Given the description of an element on the screen output the (x, y) to click on. 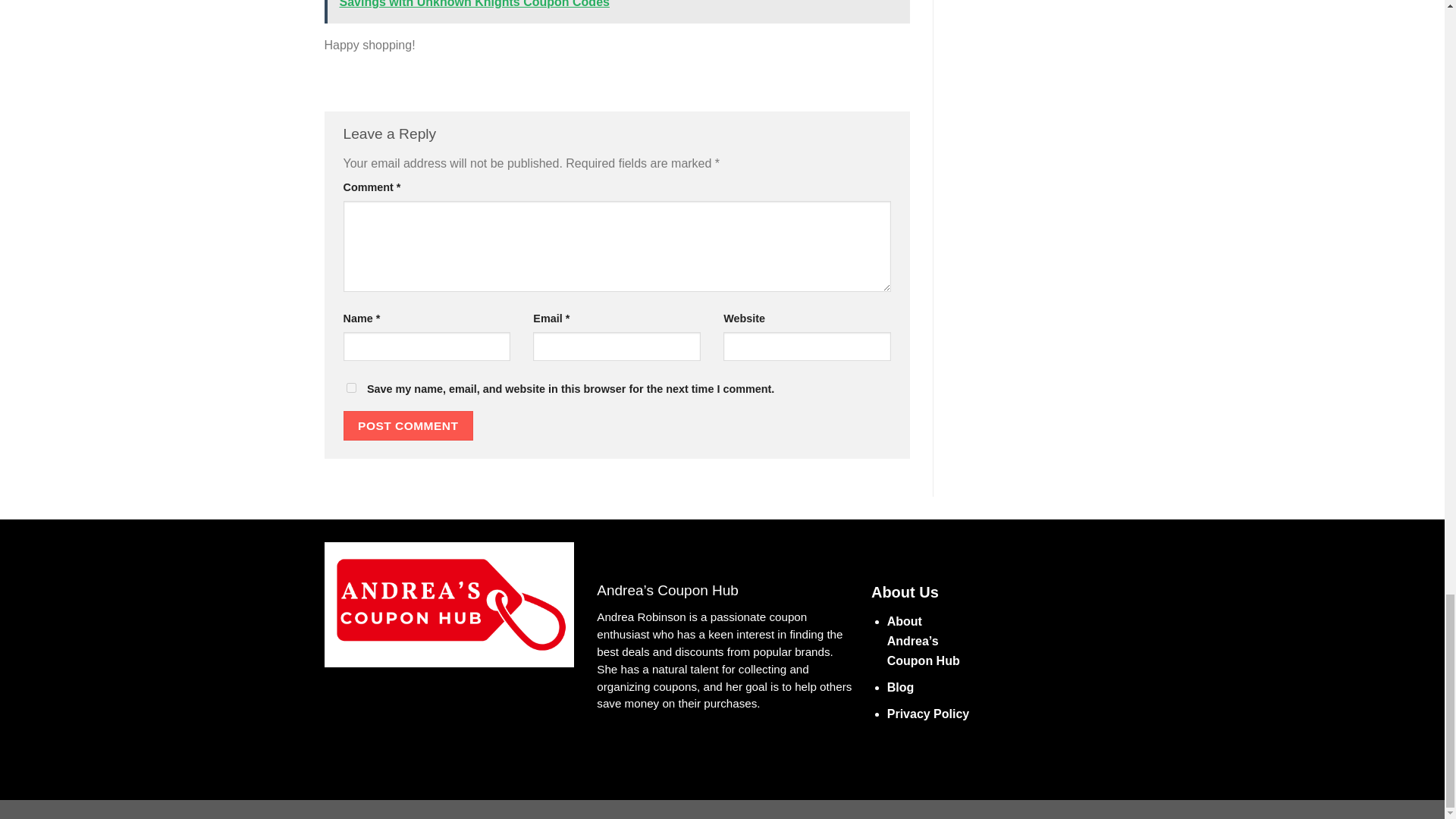
Post Comment (407, 425)
Blog (900, 686)
yes (350, 388)
Post Comment (407, 425)
Privacy Policy (927, 713)
